Given the description of an element on the screen output the (x, y) to click on. 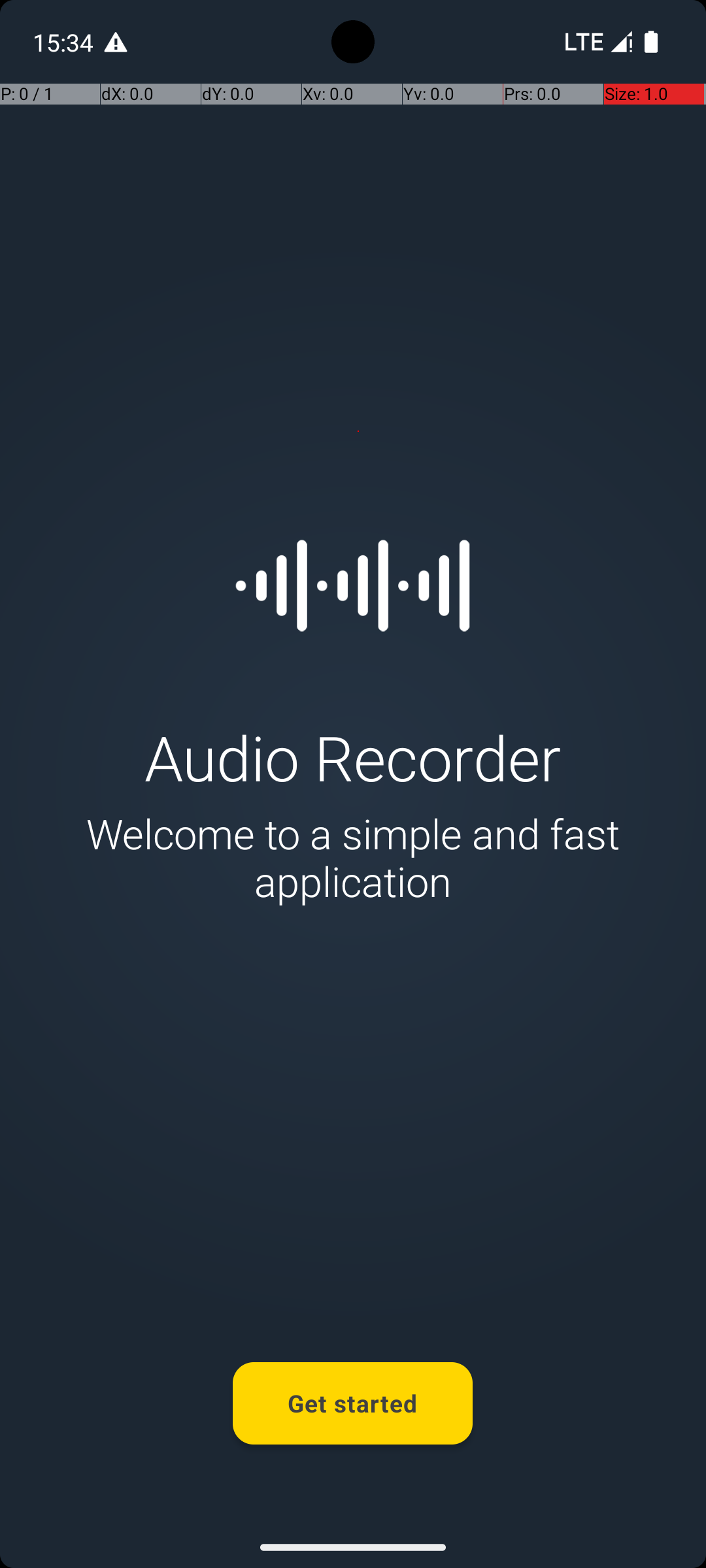
Get started Element type: android.widget.Button (352, 1403)
Audio Recorder Element type: android.widget.TextView (352, 756)
Welcome to a simple and fast application Element type: android.widget.TextView (352, 856)
